Given the description of an element on the screen output the (x, y) to click on. 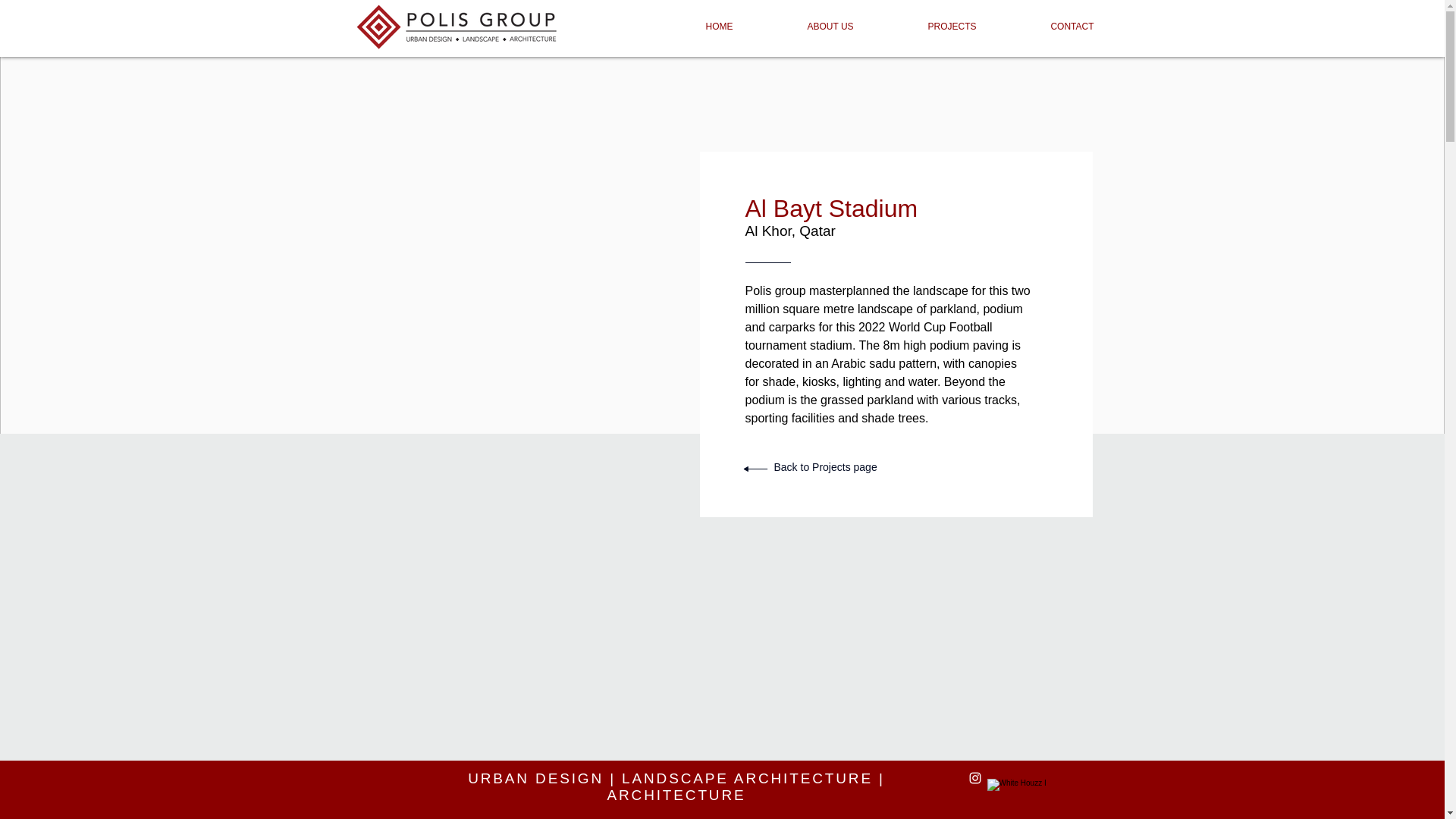
CONTACT (1072, 19)
ABOUT US (830, 19)
Back to Projects page (824, 467)
PROJECTS (951, 19)
HOME (719, 19)
